Given the description of an element on the screen output the (x, y) to click on. 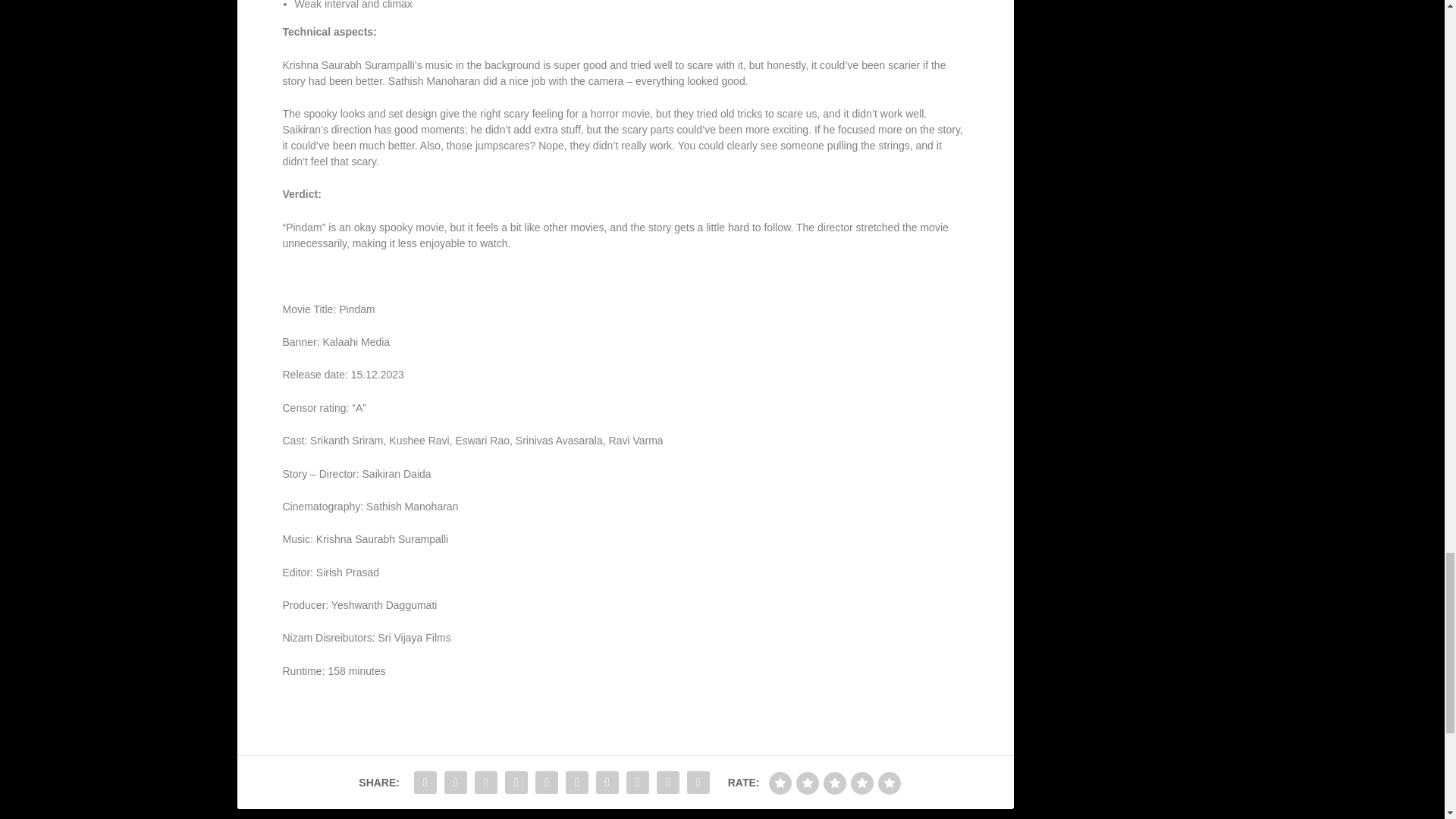
Share "Pindam Movie Review" via Pinterest (546, 782)
Share "Pindam Movie Review" via Print (697, 782)
Share "Pindam Movie Review" via Stumbleupon (637, 782)
Share "Pindam Movie Review" via Tumblr (515, 782)
Share "Pindam Movie Review" via LinkedIn (577, 782)
Share "Pindam Movie Review" via Buffer (607, 782)
Share "Pindam Movie Review" via Email (667, 782)
Share "Pindam Movie Review" via Twitter (455, 782)
Share "Pindam Movie Review" via Facebook (425, 782)
bad (780, 783)
